Given the description of an element on the screen output the (x, y) to click on. 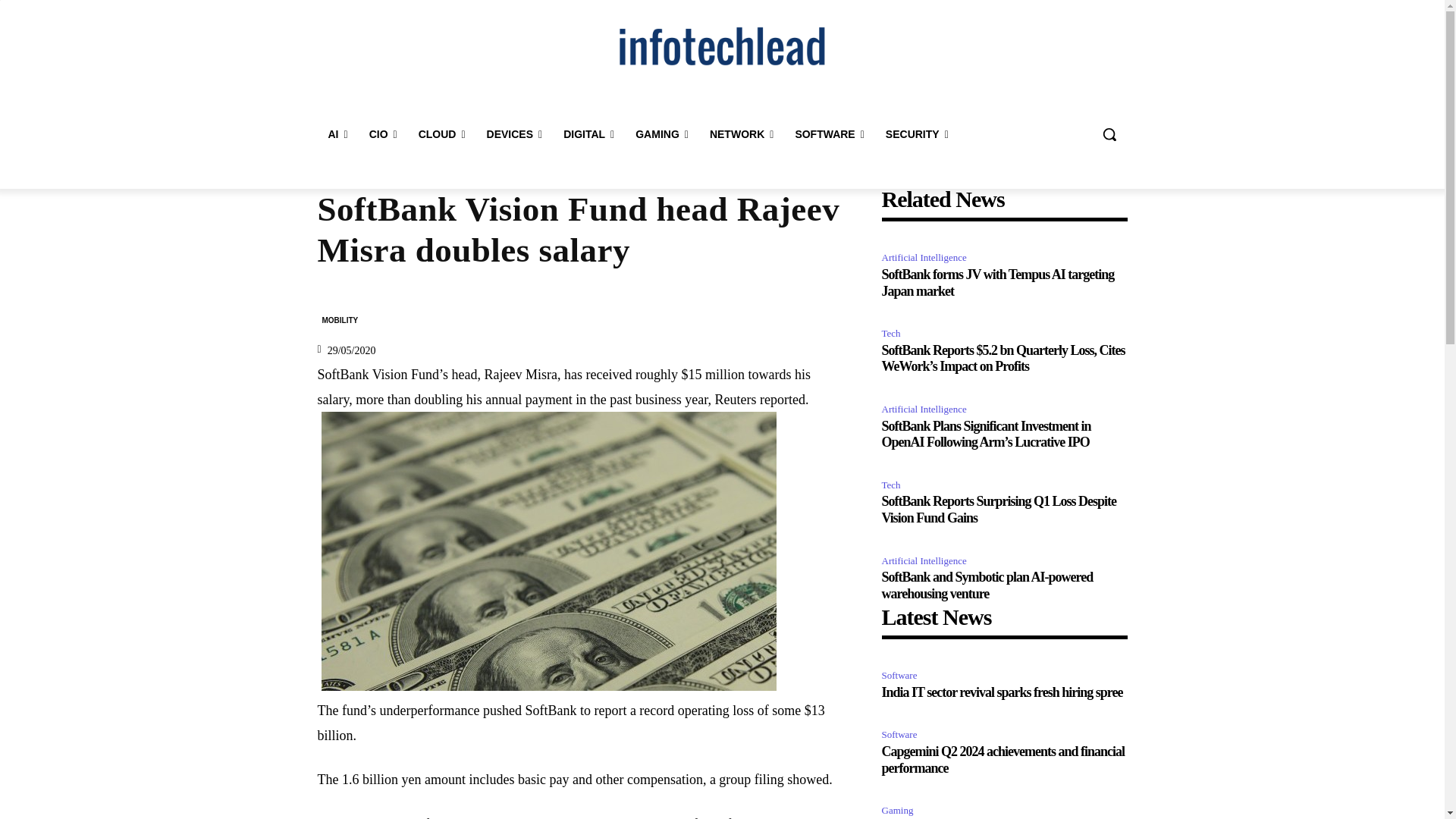
AI (337, 134)
CIO (382, 134)
